Given the description of an element on the screen output the (x, y) to click on. 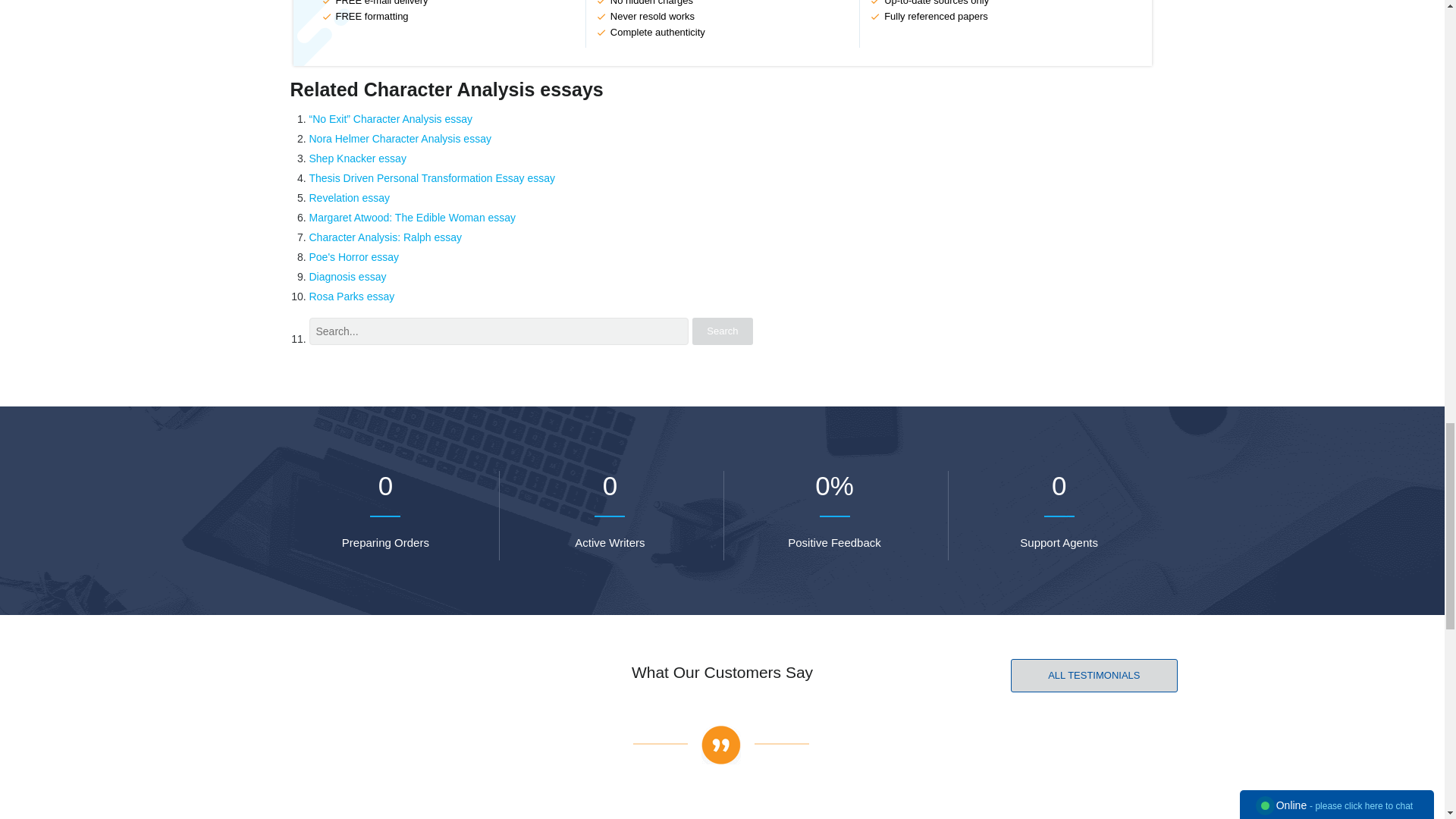
Search (722, 330)
Nora Helmer Character Analysis essay (400, 138)
Thesis Driven Personal Transformation Essay essay (431, 177)
Shep Knacker essay (357, 158)
Revelation essay (349, 197)
Margaret Atwood: The Edible Woman essay (412, 217)
